Given the description of an element on the screen output the (x, y) to click on. 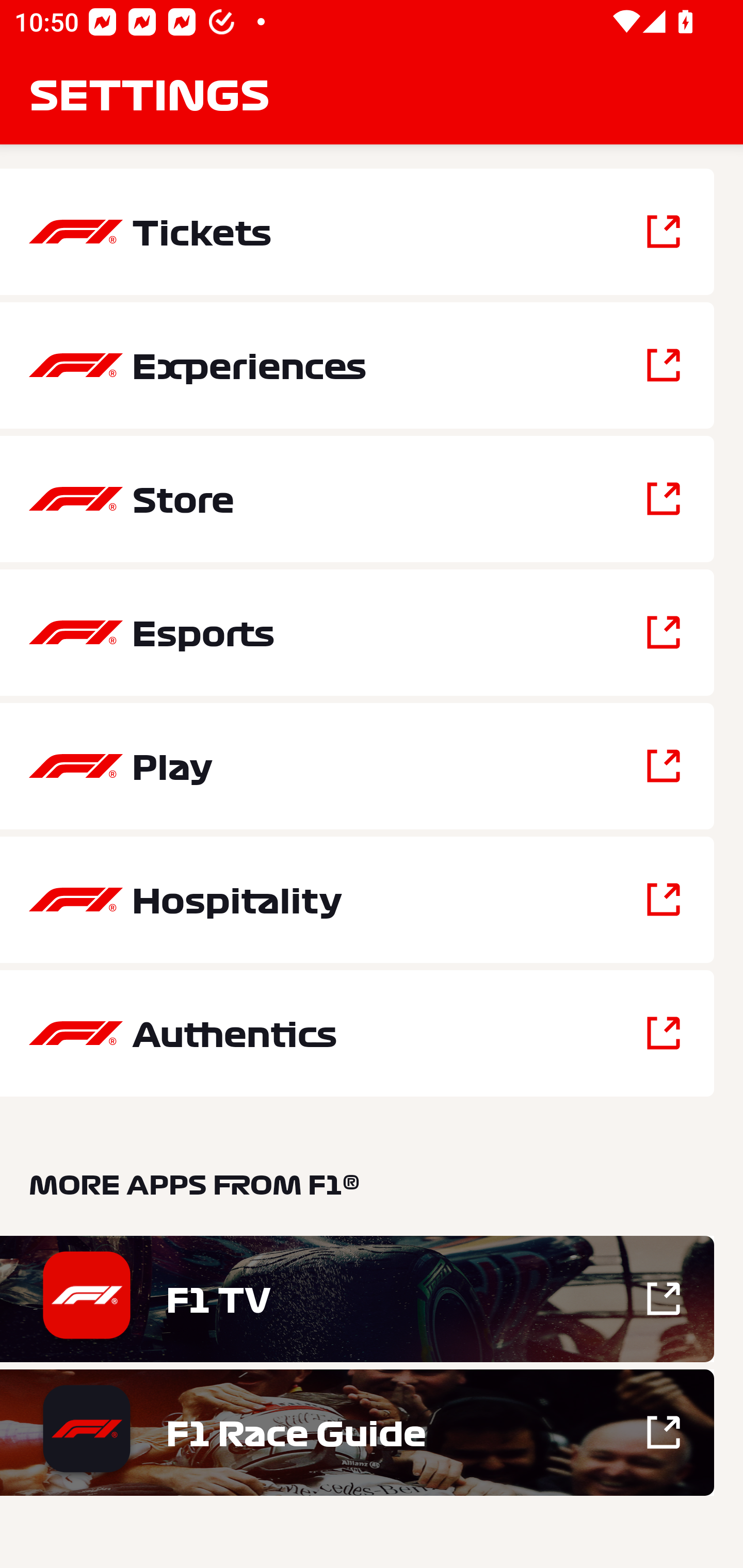
Tickets (357, 231)
Experiences (357, 365)
Store (357, 498)
Esports (357, 632)
Play (357, 765)
Hospitality (357, 899)
Authentics (357, 1033)
F1 TV (357, 1298)
F1 Race Guide (357, 1431)
